Given the description of an element on the screen output the (x, y) to click on. 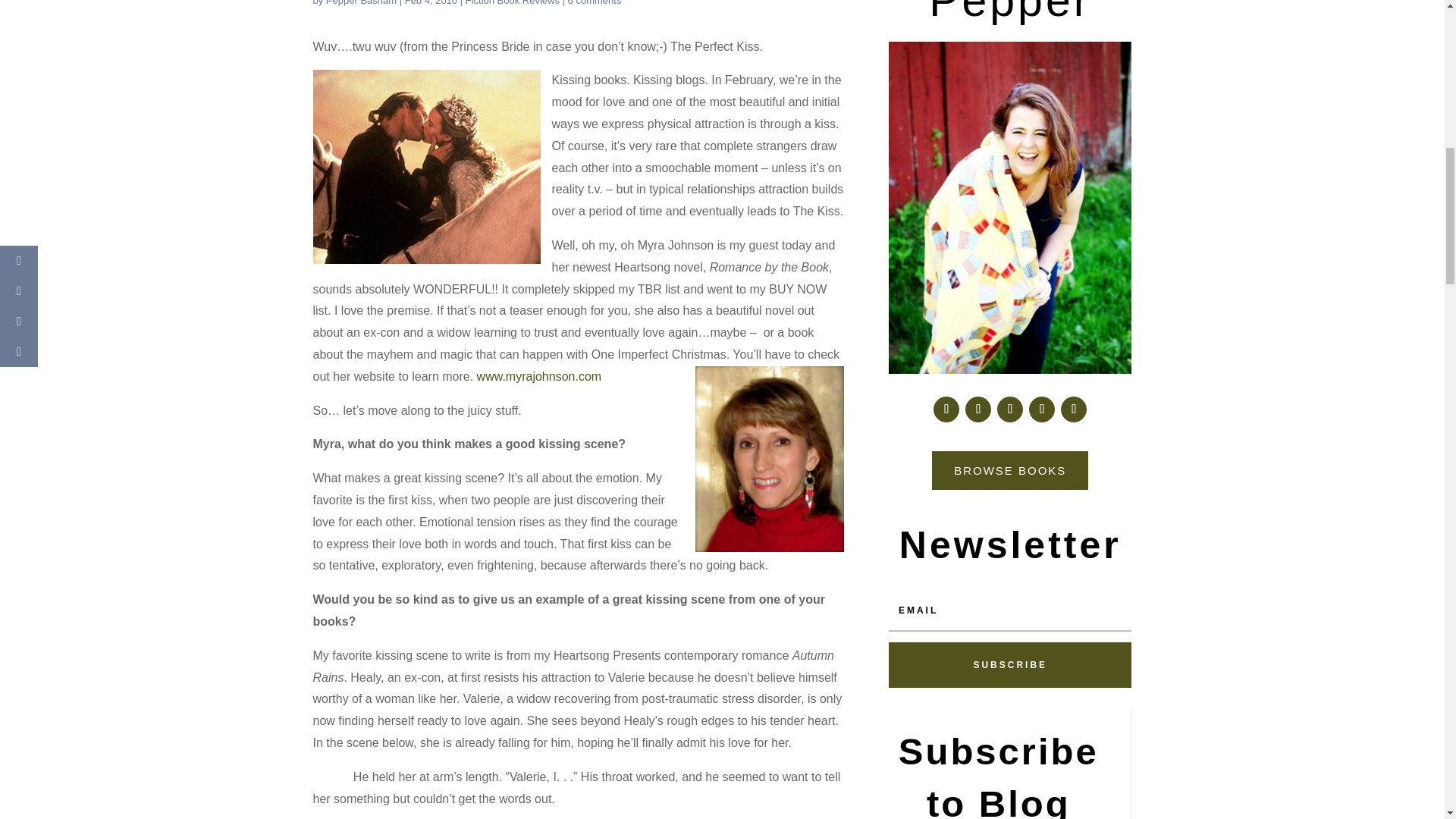
Posts by Pepper Basham (361, 2)
Fiction Book Reviews (512, 2)
6 comments (594, 2)
Pepper Basham (361, 2)
www.myrajohnson.com (539, 376)
